Given the description of an element on the screen output the (x, y) to click on. 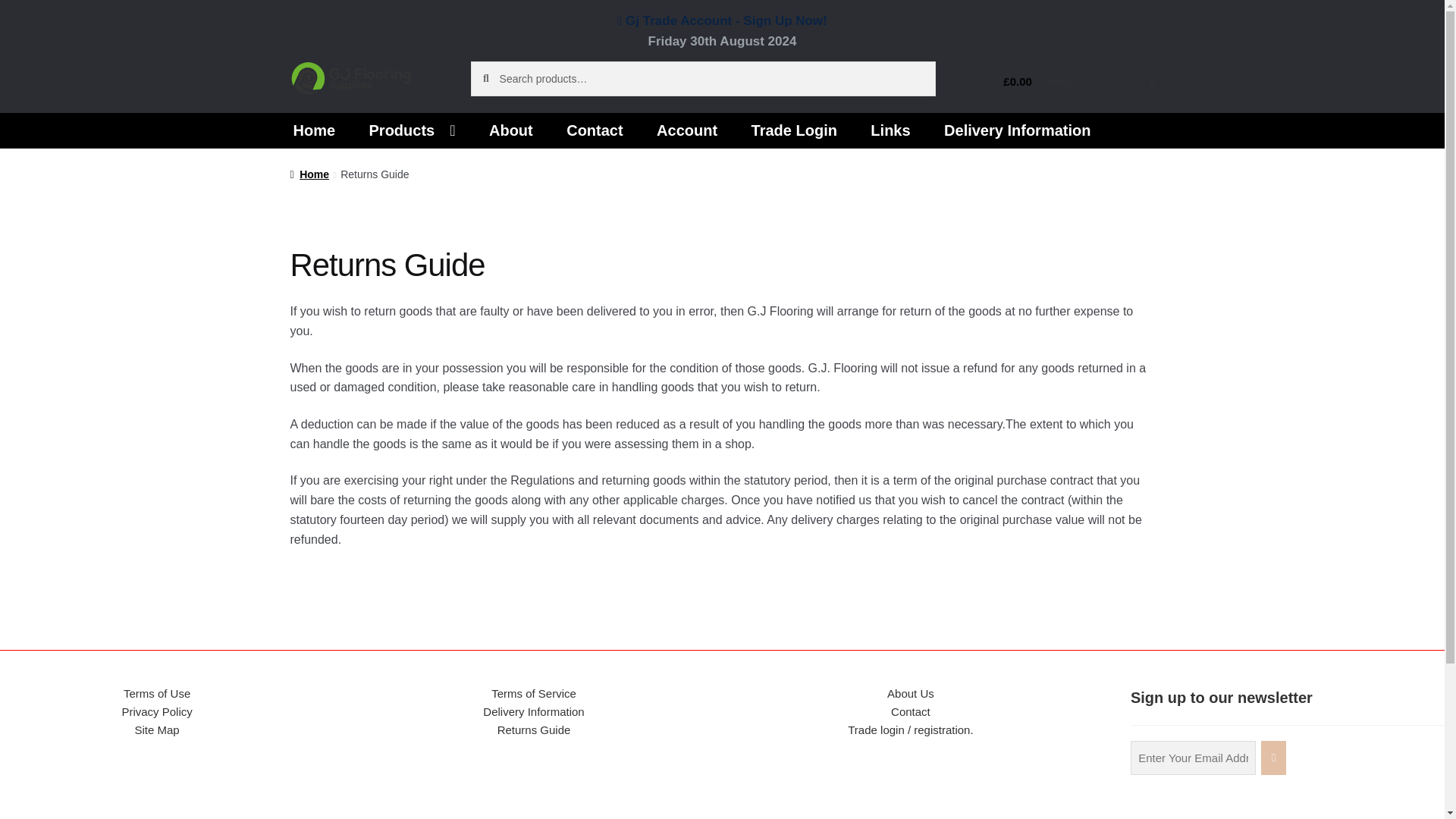
Home (314, 130)
Products (411, 130)
View your shopping cart (1056, 81)
Gj Trade Account - Sign Up Now! (722, 20)
